Given the description of an element on the screen output the (x, y) to click on. 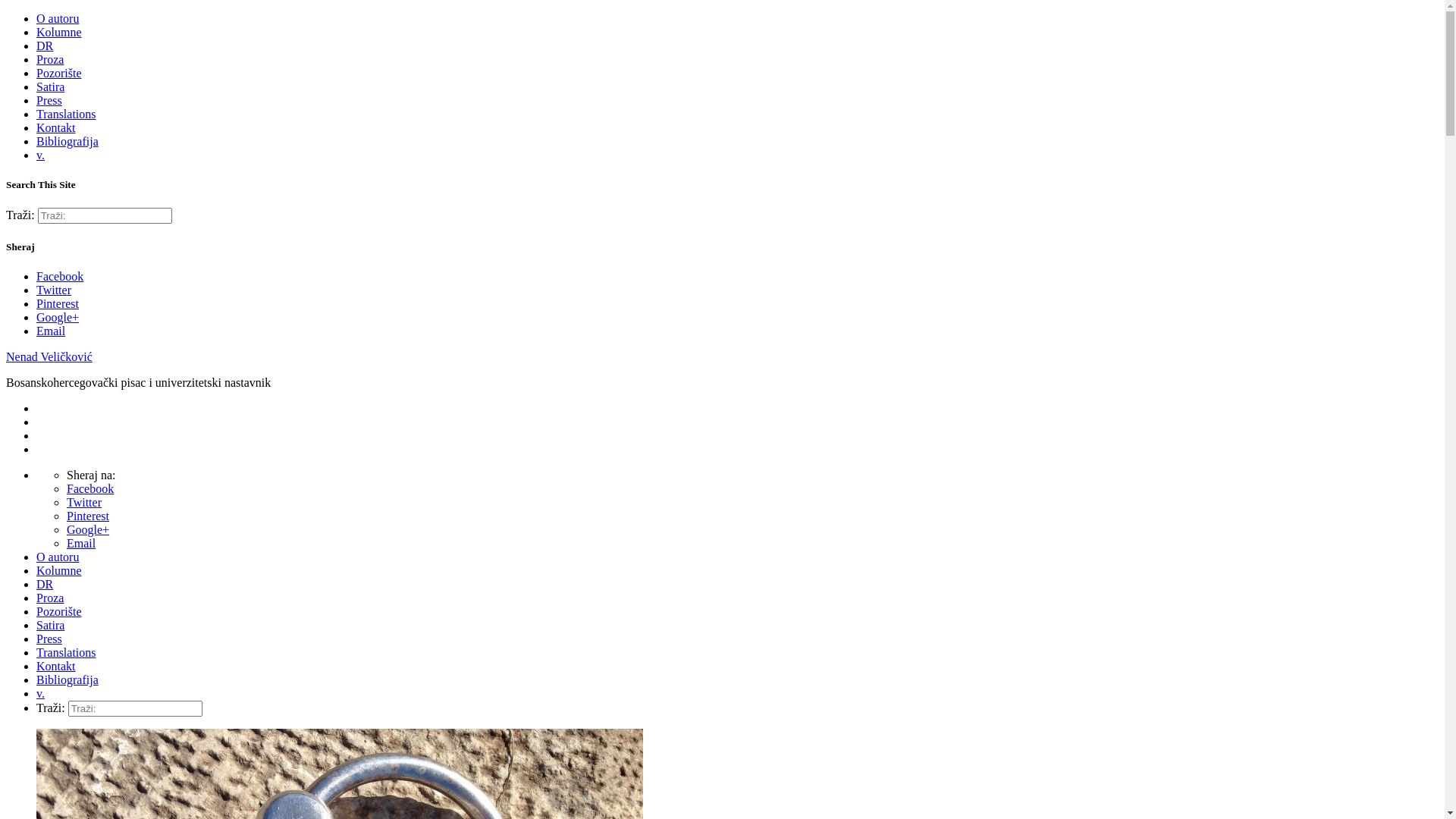
Press Element type: text (49, 638)
v. Element type: text (40, 693)
Satira Element type: text (50, 624)
Pinterest Element type: text (57, 303)
Pinterest Element type: text (87, 515)
Translations Element type: text (66, 113)
v. Element type: text (40, 154)
Kontakt Element type: text (55, 127)
Translations Element type: text (66, 652)
Bibliografija Element type: text (67, 140)
Facebook Element type: text (89, 488)
Google+ Element type: text (87, 529)
O autoru Element type: text (57, 18)
O autoru Element type: text (57, 556)
Kontakt Element type: text (55, 665)
Email Element type: text (50, 330)
Google+ Element type: text (57, 316)
DR Element type: text (44, 45)
DR Element type: text (44, 583)
Email Element type: text (80, 542)
Kolumne Element type: text (58, 31)
Twitter Element type: text (53, 289)
Kolumne Element type: text (58, 570)
Press Element type: text (49, 100)
Facebook Element type: text (59, 275)
Twitter Element type: text (83, 501)
Proza Element type: text (49, 59)
Satira Element type: text (50, 86)
Proza Element type: text (49, 597)
Bibliografija Element type: text (67, 679)
